Given the description of an element on the screen output the (x, y) to click on. 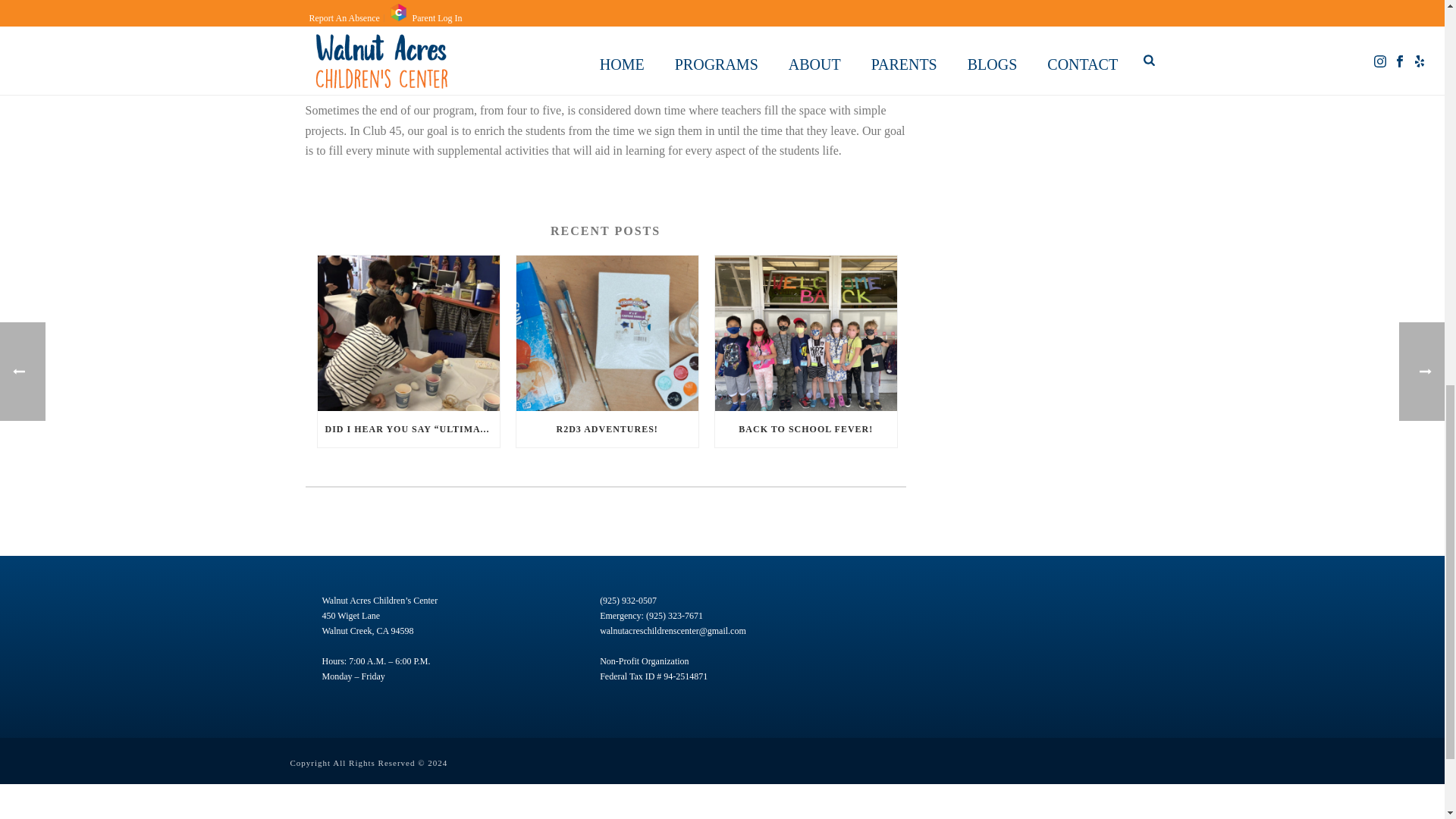
Back to School Fever! (805, 333)
R2D3 Adventures! (607, 333)
